Given the description of an element on the screen output the (x, y) to click on. 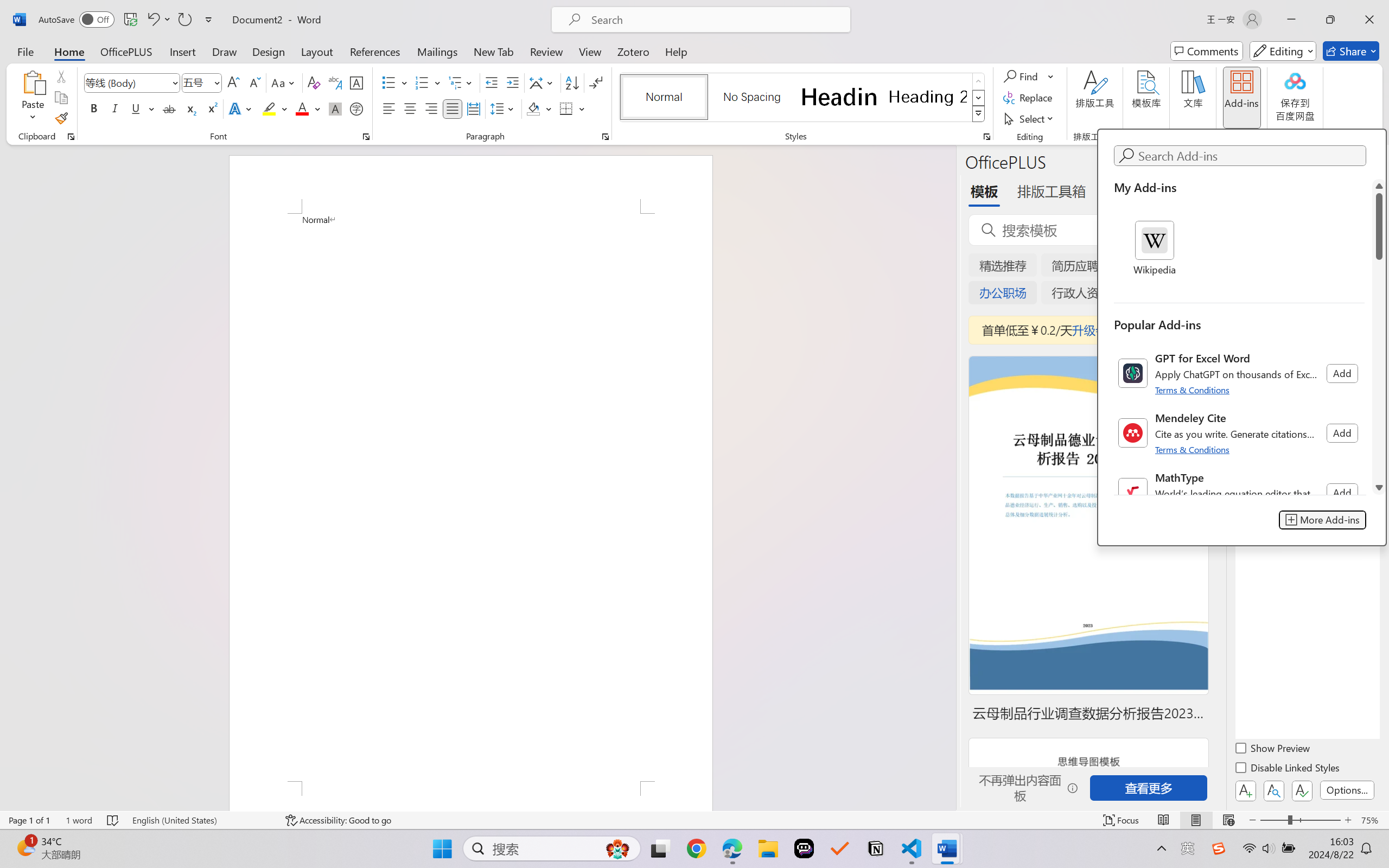
Styles (978, 113)
Close (1369, 19)
Read Mode (1163, 819)
Class: NetUIScrollBar (1379, 336)
Text Effects and Typography (241, 108)
Font Color Red (302, 108)
Multilevel List (461, 82)
Justify (452, 108)
Zoom In (1348, 819)
Clear Formatting (313, 82)
Grow Font (233, 82)
Line up (1379, 185)
